Given the description of an element on the screen output the (x, y) to click on. 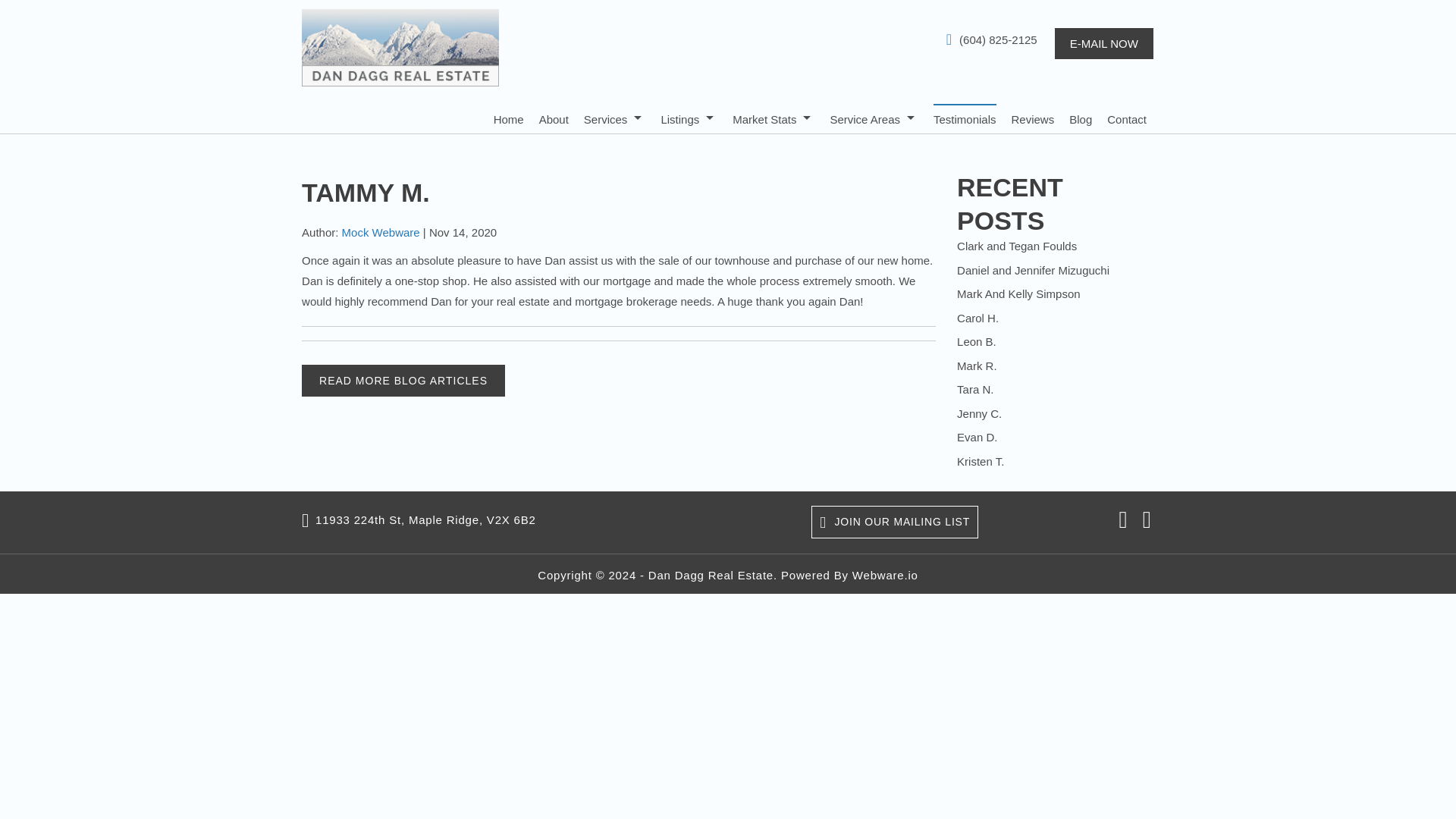
Home (508, 118)
Service Areas (873, 118)
Contact (1126, 118)
Reviews (1032, 118)
Listings (689, 118)
Market Stats (772, 118)
Services (614, 118)
About (553, 118)
E-MAIL NOW (1104, 43)
Testimonials (964, 118)
